Given the description of an element on the screen output the (x, y) to click on. 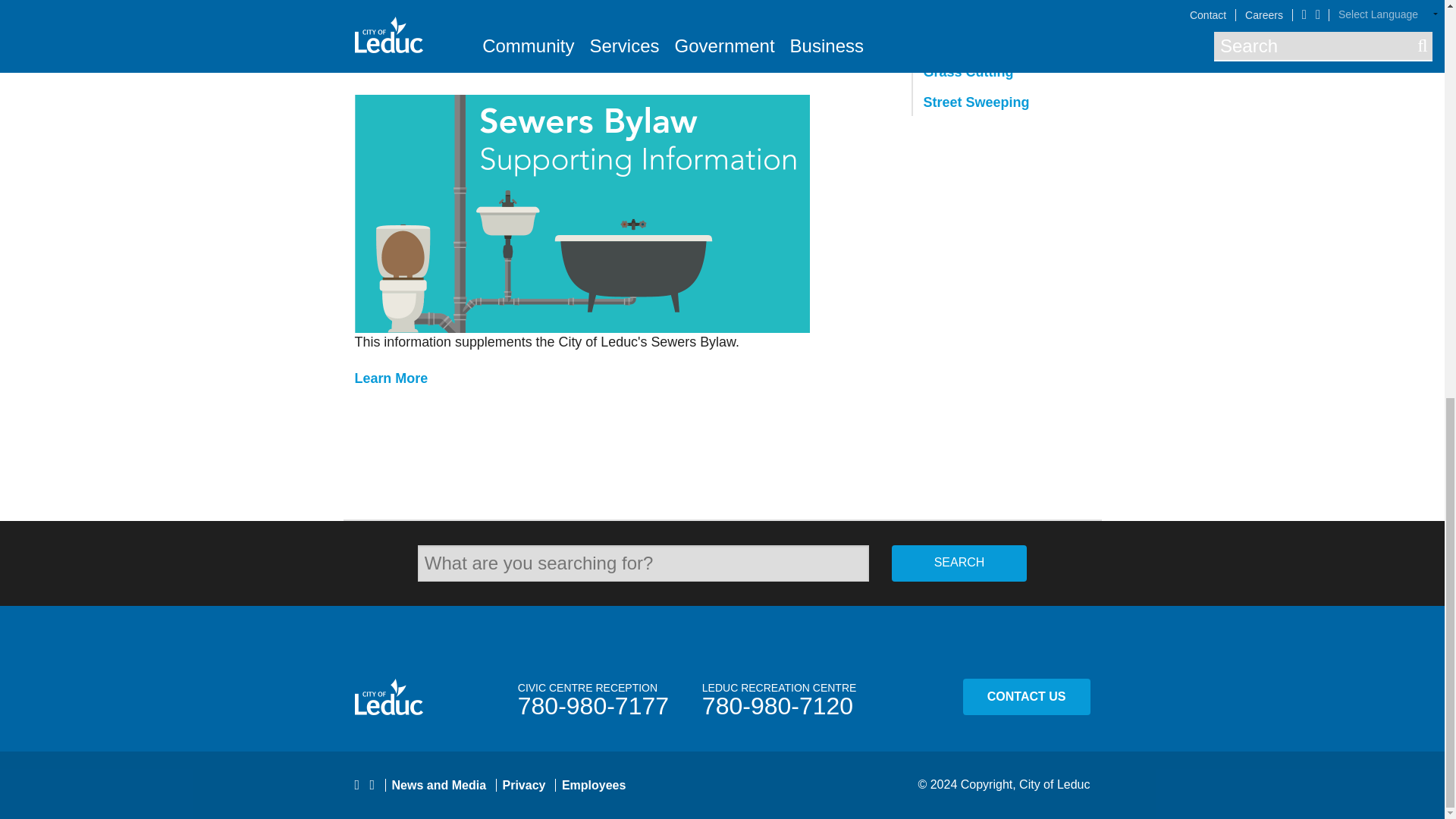
City of Leduc Home (406, 696)
City of Leduc Home (389, 696)
